Given the description of an element on the screen output the (x, y) to click on. 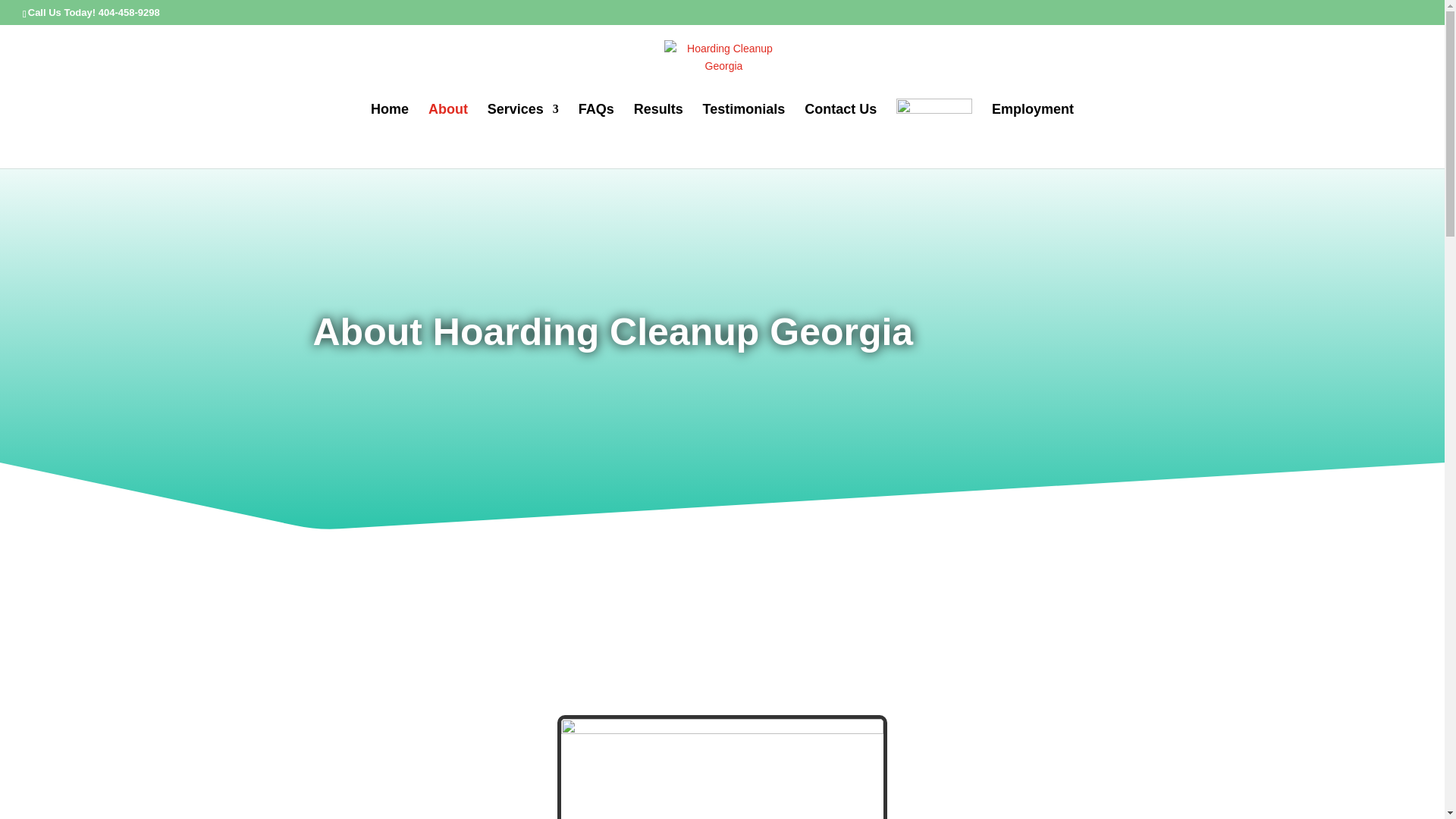
404-458-9298 (129, 12)
About (447, 122)
Employment (1032, 122)
Results (657, 122)
Contact Us (840, 122)
FAQs (596, 122)
Home (390, 122)
Services (523, 122)
Testimonials (744, 122)
